Given the description of an element on the screen output the (x, y) to click on. 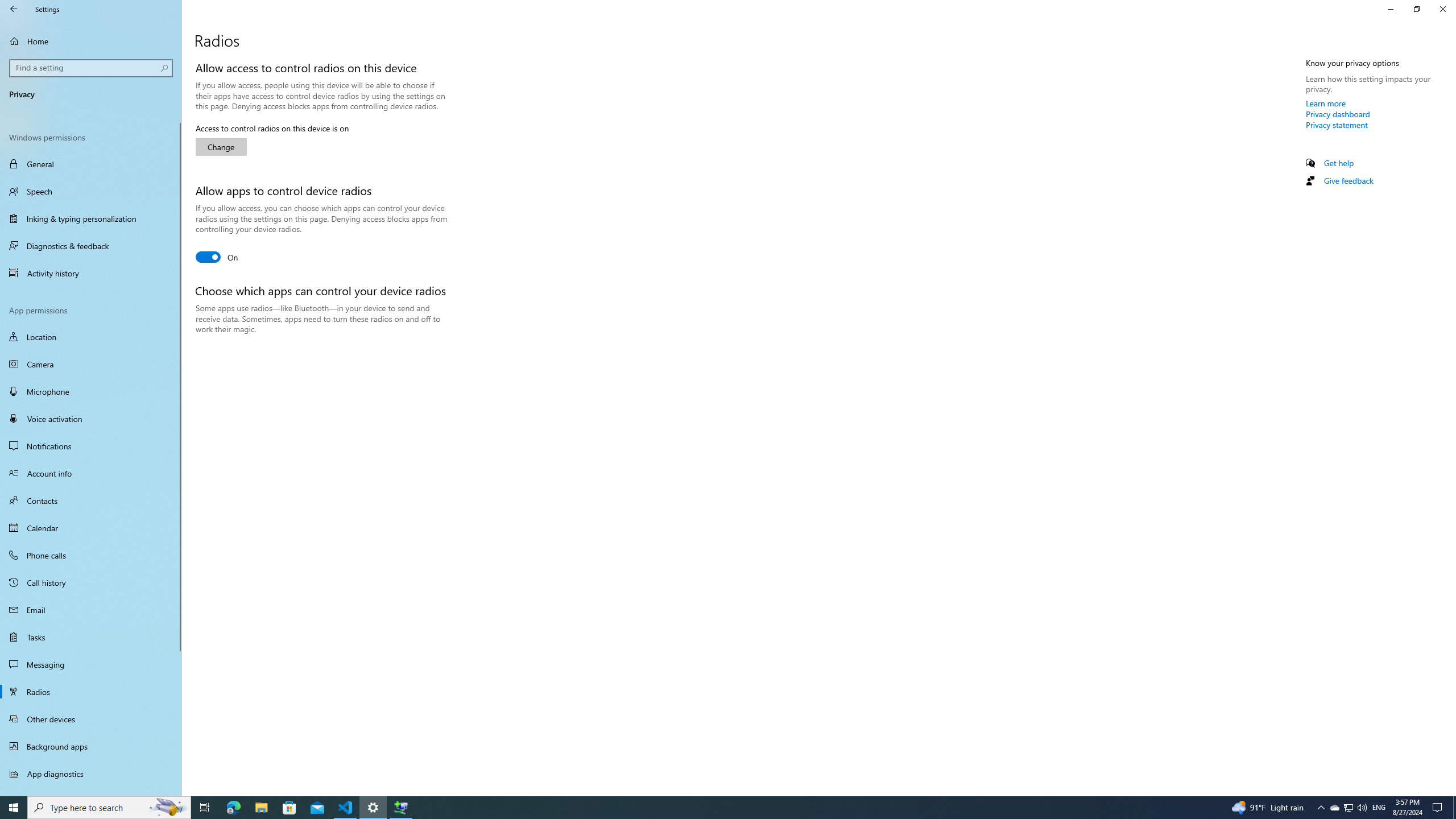
Close Settings (1442, 9)
Camera (91, 363)
Tasks (91, 636)
Call history (91, 582)
Search box, Find a setting (91, 67)
Allow apps to control device radios (216, 257)
Privacy statement (1336, 124)
Inking & typing personalization (91, 217)
Give feedback (1348, 180)
Phone calls (91, 554)
Running applications (706, 807)
Voice activation (91, 418)
Action Center, No new notifications (1439, 807)
Automatic file downloads (91, 791)
Notification Chevron (1320, 807)
